Given the description of an element on the screen output the (x, y) to click on. 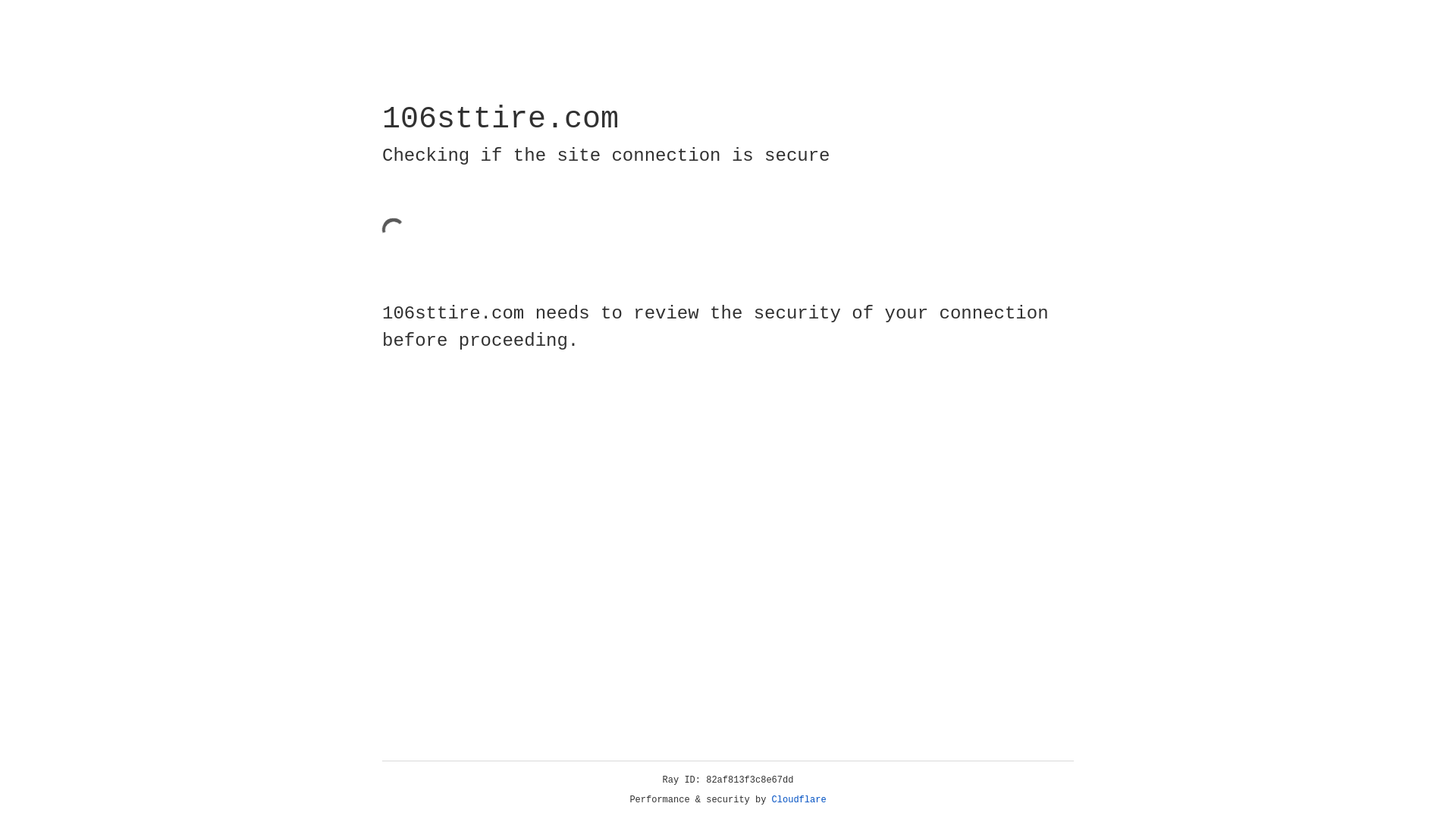
Cloudflare Element type: text (798, 799)
